Given the description of an element on the screen output the (x, y) to click on. 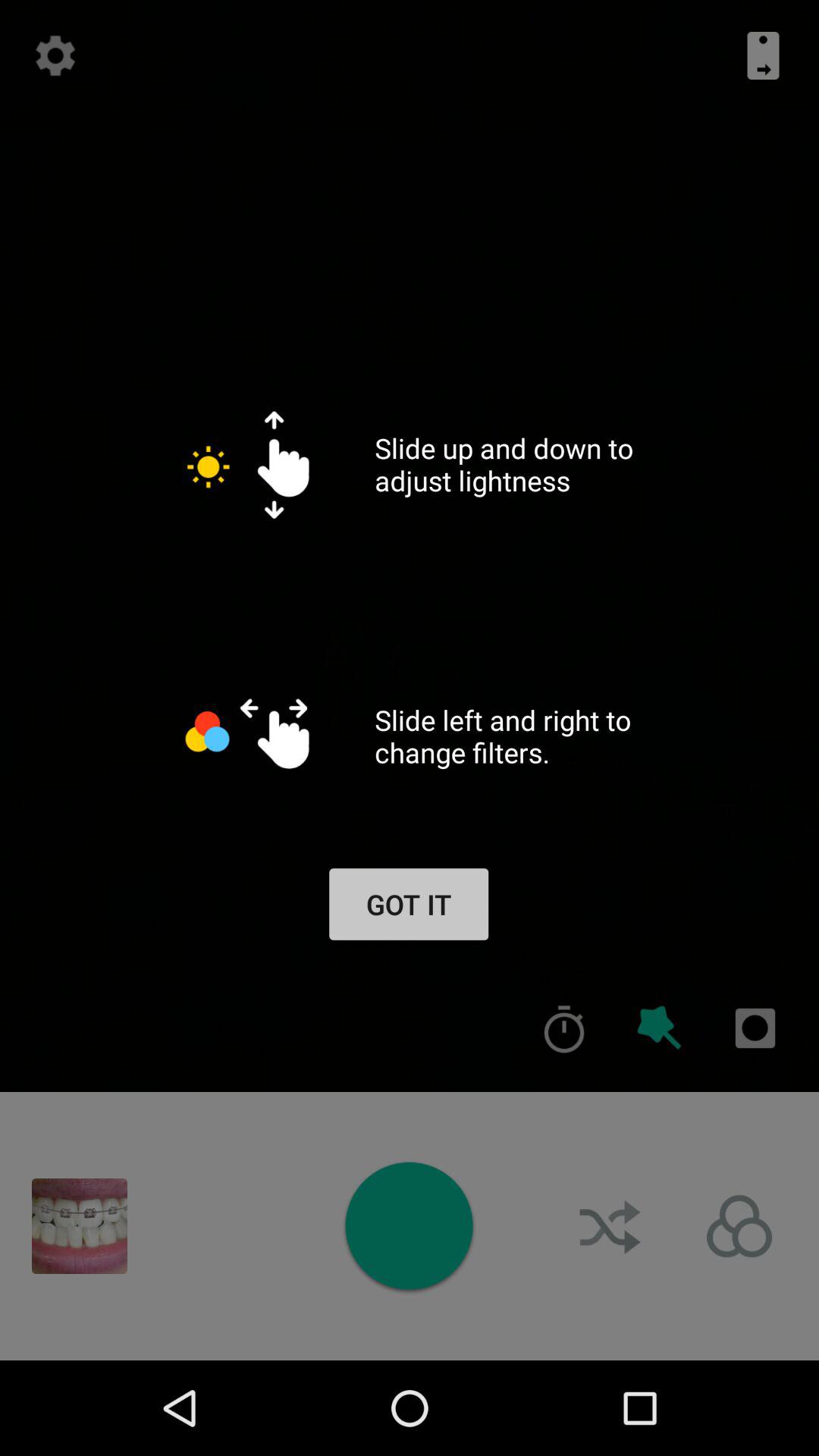
show teeth to focus (79, 1226)
